Given the description of an element on the screen output the (x, y) to click on. 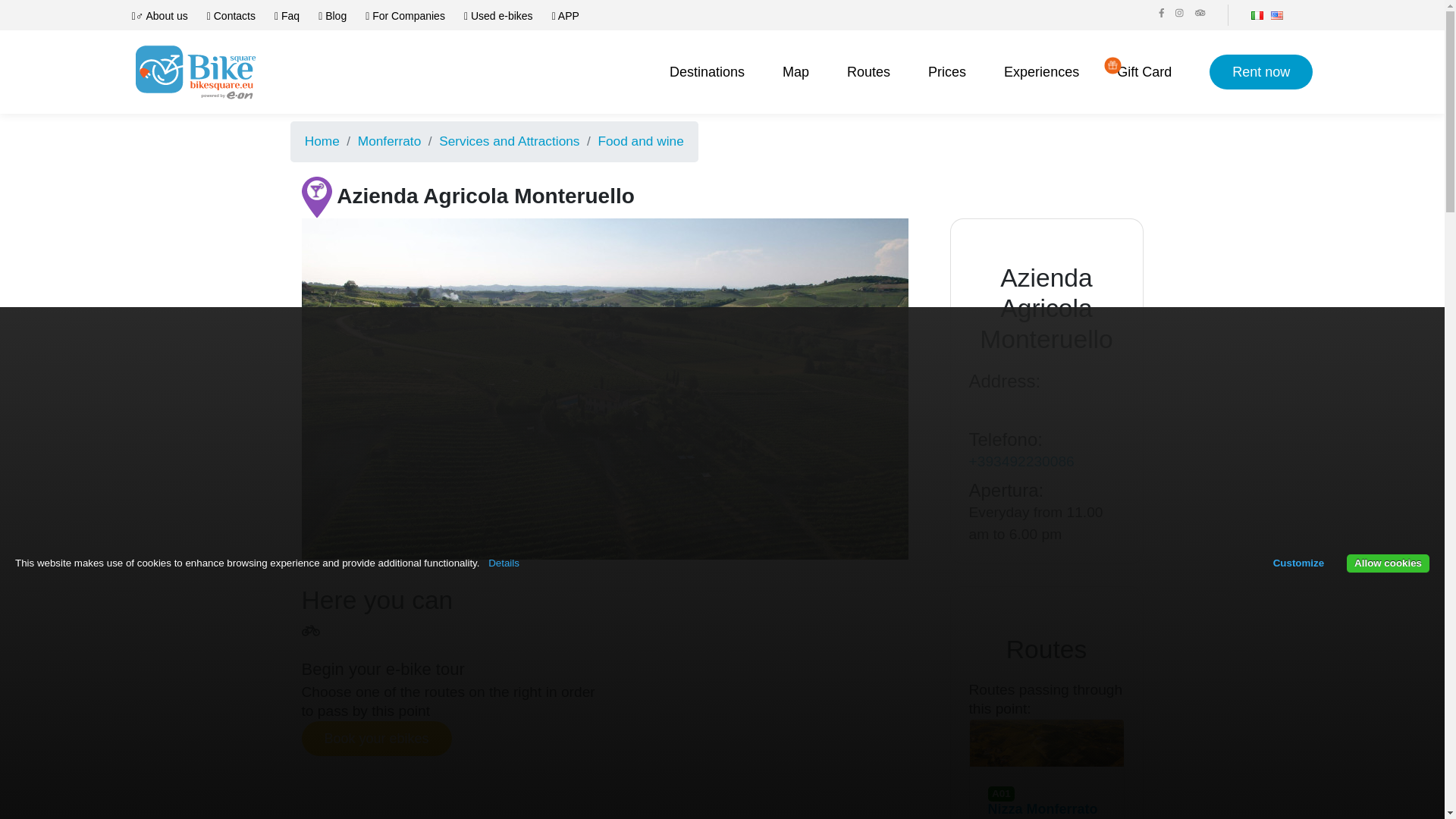
Rent now (1261, 71)
Services and Attractions (509, 141)
Food and wine (639, 141)
Destinations (706, 72)
Map (796, 72)
Monferrato (390, 141)
Gift Card (1144, 72)
Routes (868, 72)
Experiences (1041, 72)
Nizza Monferrato and Barbera's Landscapes (1045, 742)
esperienze tutto compreso (1041, 72)
Nizza Monferrato and Barbera's Landscapes (1046, 810)
Prices (947, 72)
Home (321, 141)
